Given the description of an element on the screen output the (x, y) to click on. 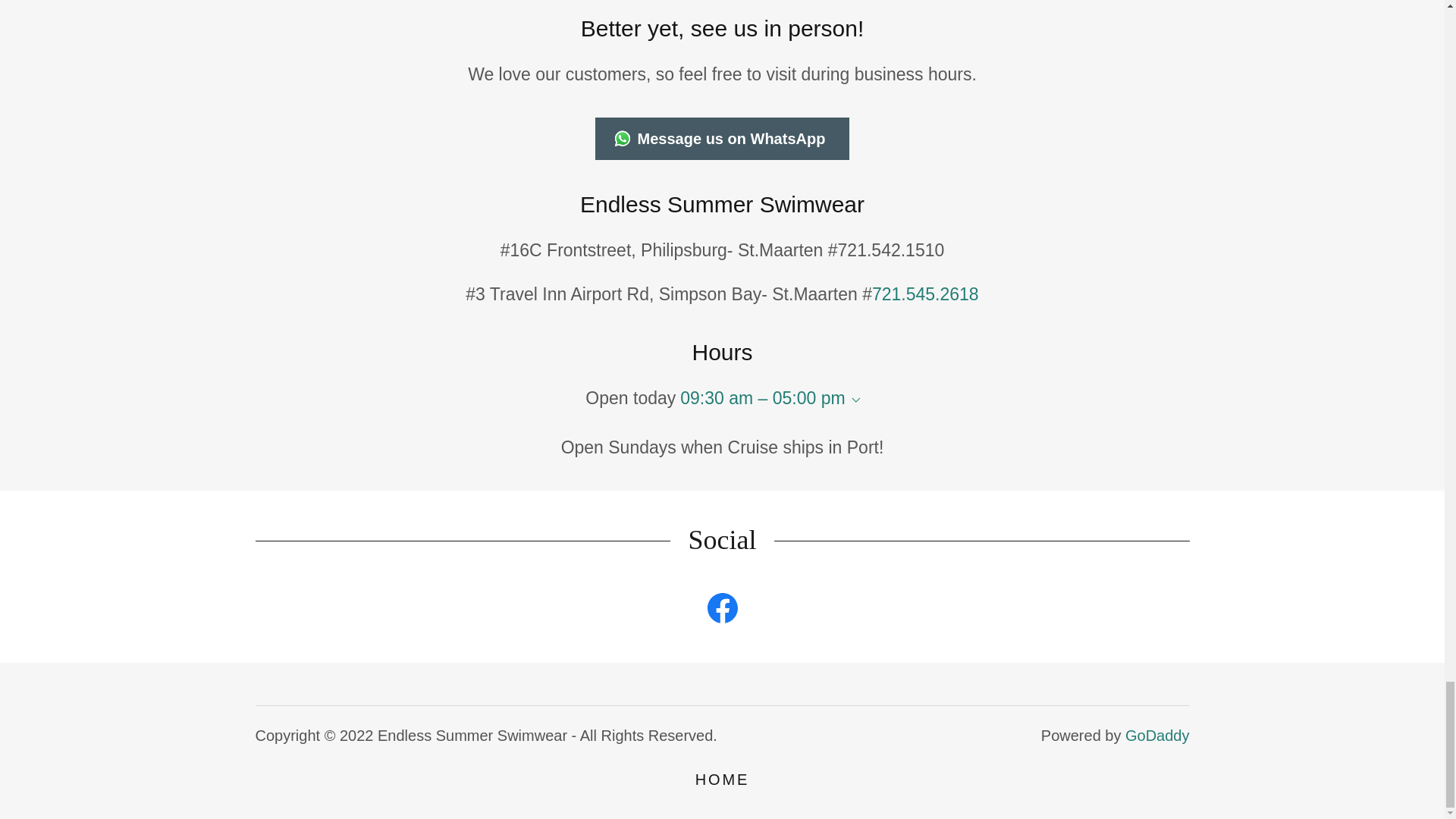
HOME (721, 779)
GoDaddy (1157, 735)
721.545.2618 (925, 293)
Message us on WhatsApp (722, 138)
